Given the description of an element on the screen output the (x, y) to click on. 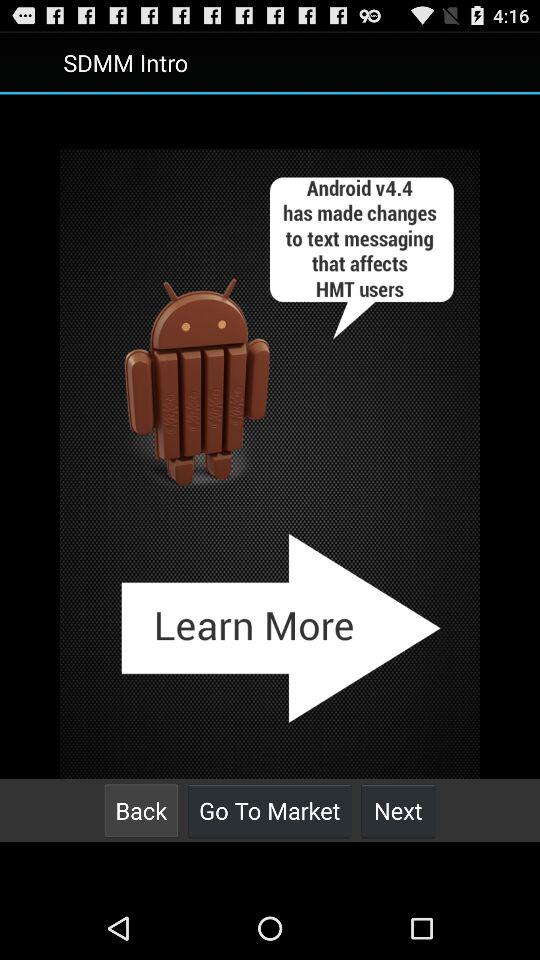
open the button at the bottom left corner (141, 810)
